Given the description of an element on the screen output the (x, y) to click on. 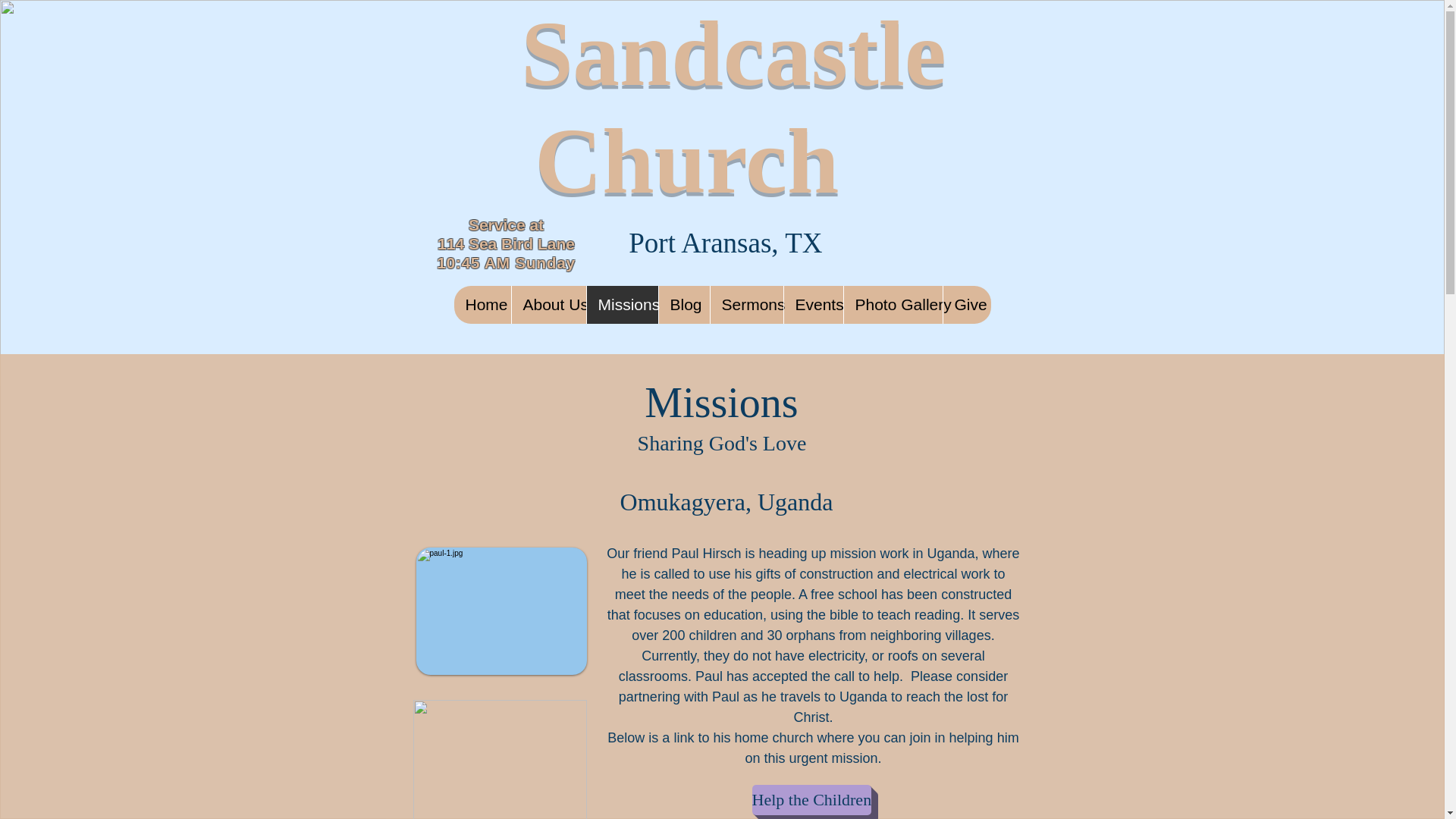
Missions (621, 304)
Photo Gallery (892, 304)
About Us (548, 304)
Help the Children (812, 799)
Blog (684, 304)
Give (966, 304)
Events (813, 304)
paul-4.jpg (499, 759)
Home (481, 304)
Sermons (746, 304)
